Given the description of an element on the screen output the (x, y) to click on. 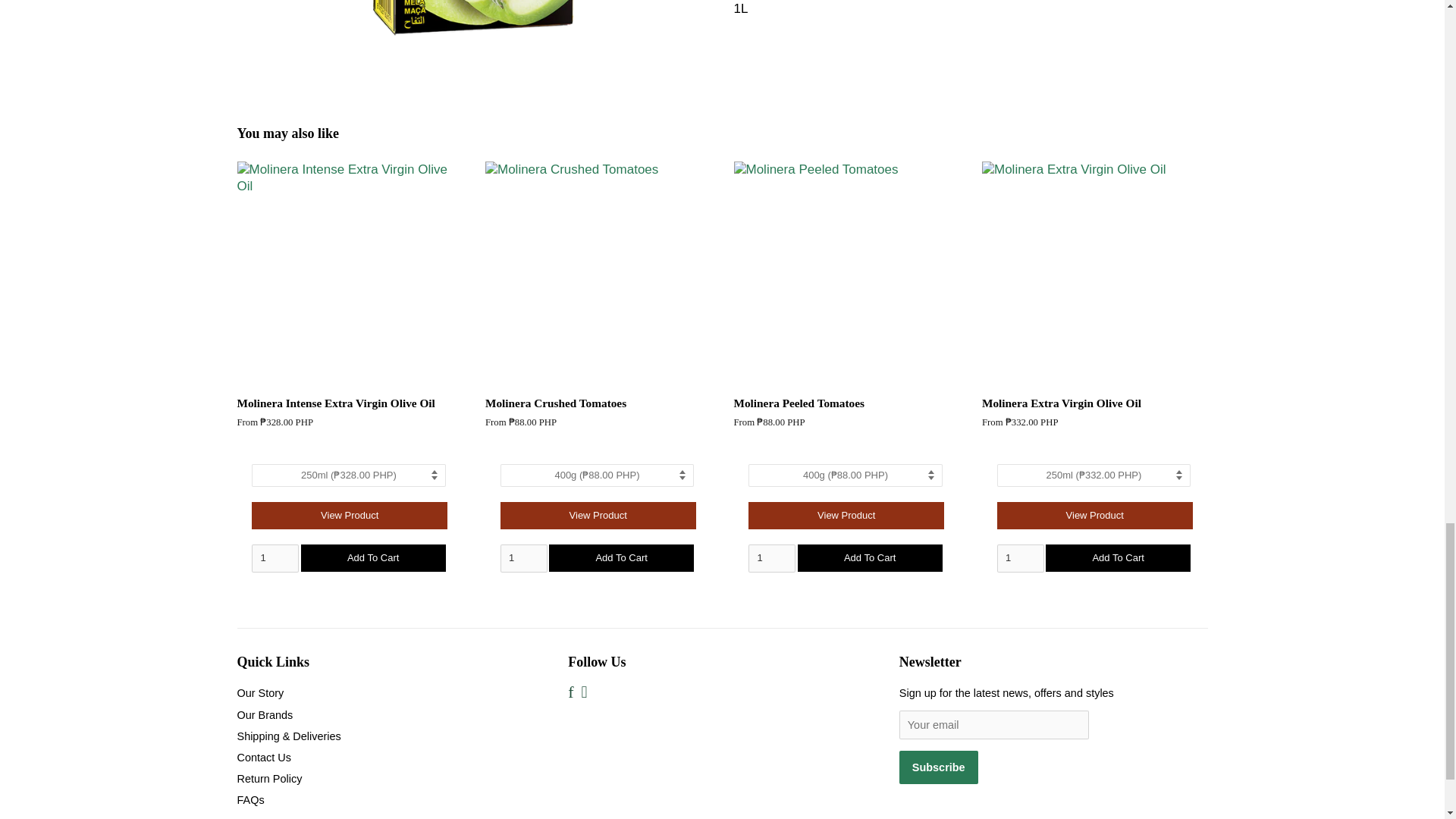
The Espa-fil Market on Instagram (583, 693)
The Espa-fil Market on Facebook (570, 693)
Subscribe (938, 767)
1 (523, 557)
1 (274, 557)
1 (771, 557)
1 (1020, 557)
